Given the description of an element on the screen output the (x, y) to click on. 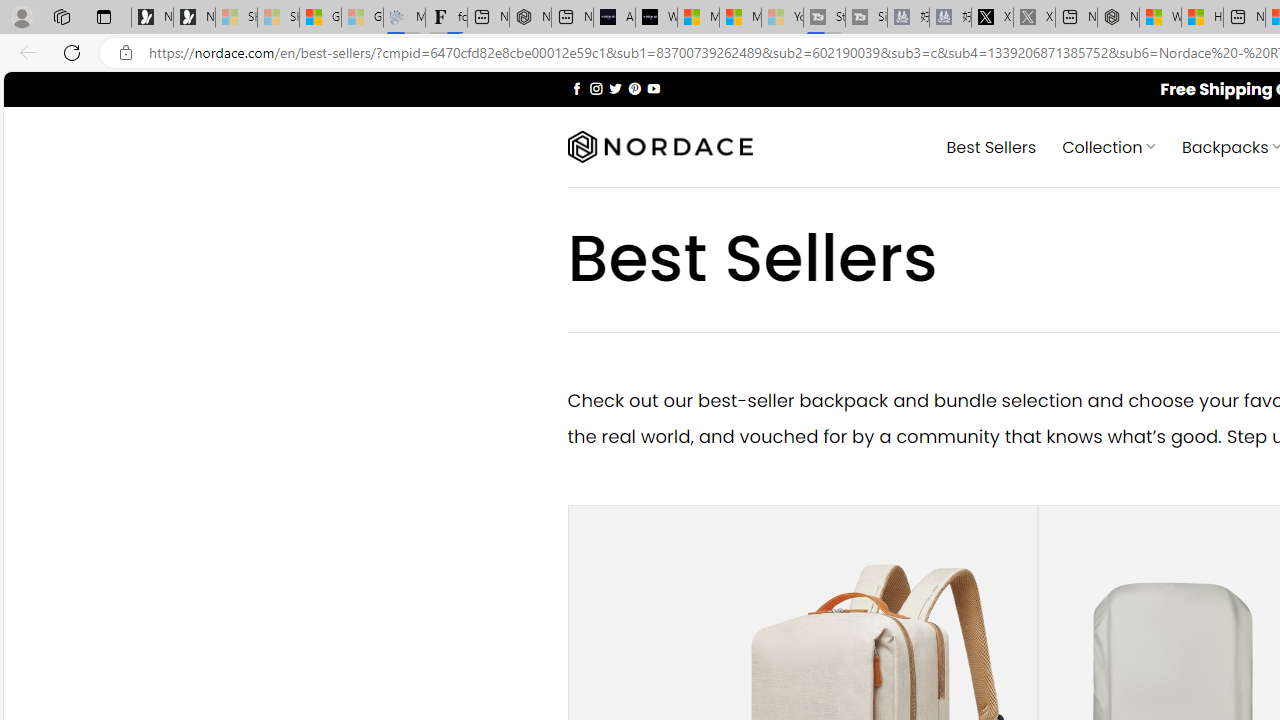
Nordace - #1 Japanese Best-Seller - Siena Smart Backpack (530, 17)
Follow on Facebook (576, 88)
Huge shark washes ashore at New York City beach | Watch (1201, 17)
AI Voice Changer for PC and Mac - Voice.ai (613, 17)
Personal Profile (21, 16)
Nordace (659, 147)
Back (24, 52)
Follow on Instagram (596, 88)
Microsoft Start Sports (698, 17)
Microsoft Start (740, 17)
  Best Sellers (990, 146)
